Given the description of an element on the screen output the (x, y) to click on. 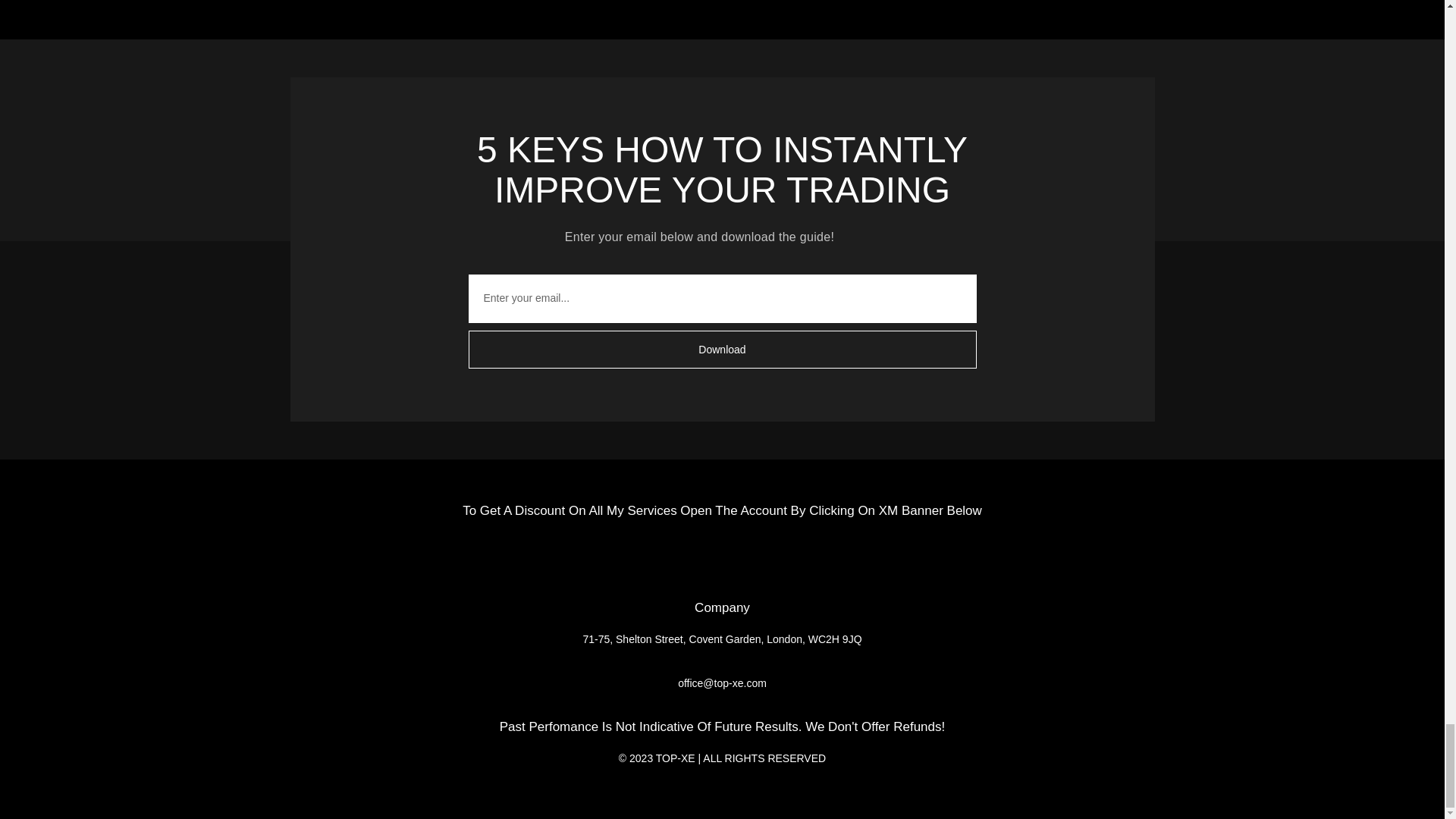
Company (721, 607)
Download (721, 170)
71-75, Shelton Street, Covent Garden, London, WC2H 9JQ (721, 321)
Enter your email below and download the guide! (721, 645)
